Given the description of an element on the screen output the (x, y) to click on. 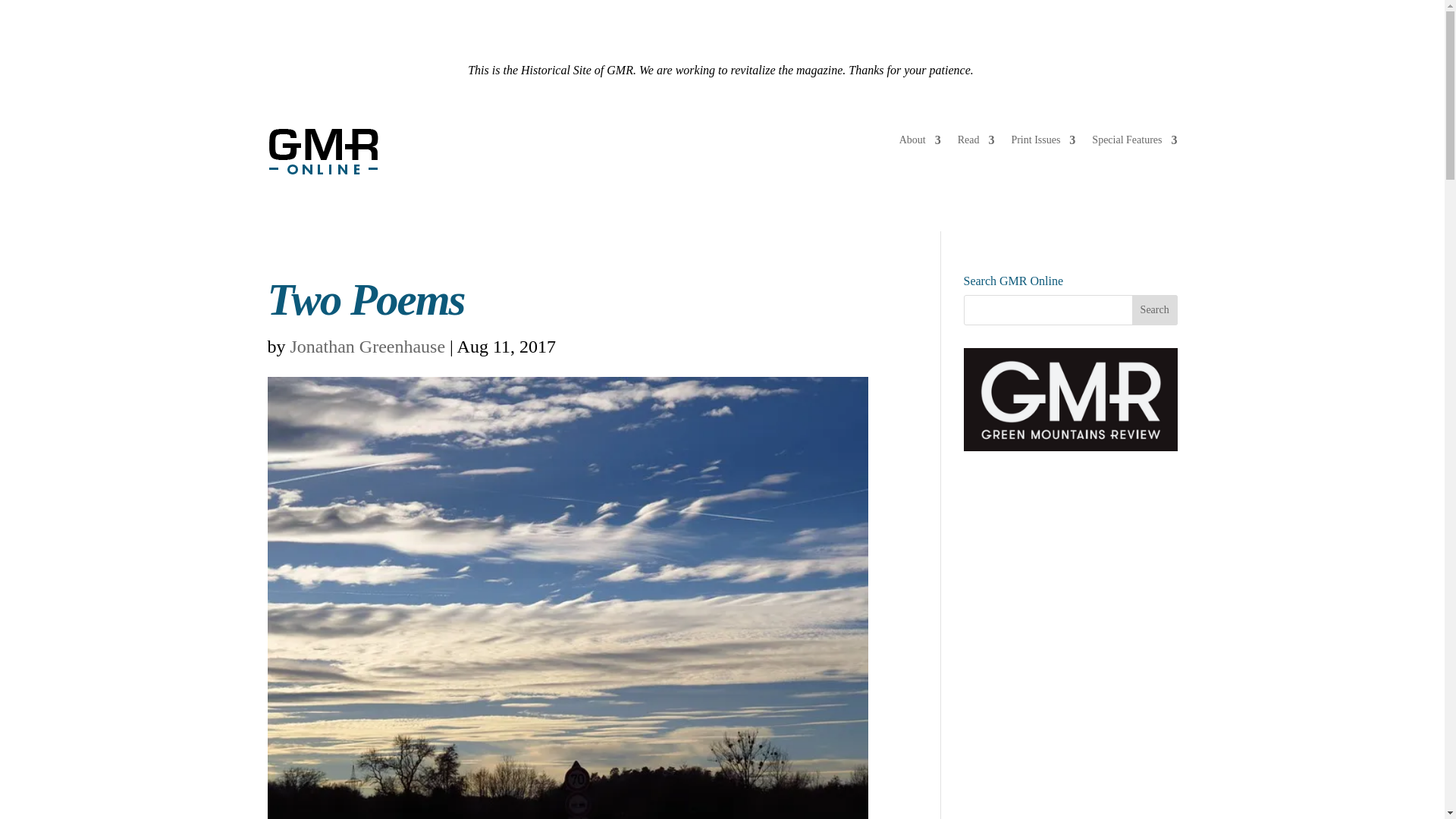
GMR-Online (323, 151)
About (919, 143)
Posts by Jonathan Greenhause (367, 346)
Search (1154, 309)
Read (976, 143)
Jonathan Greenhause (367, 346)
Print Issues (1042, 143)
Special Features (1134, 143)
